Given the description of an element on the screen output the (x, y) to click on. 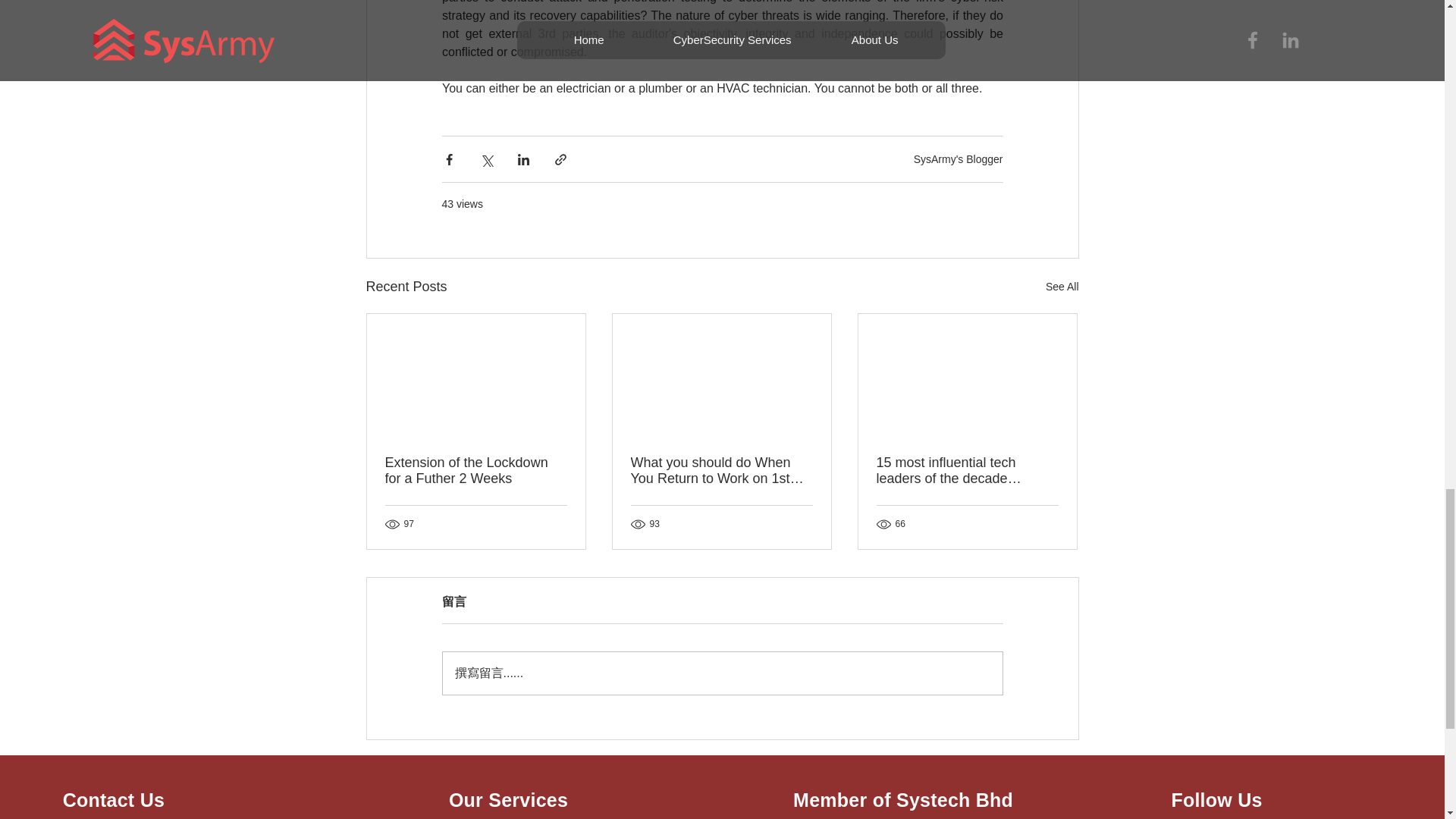
See All (1061, 287)
SysArmy's Blogger (958, 159)
Extension of the Lockdown for a Futher 2 Weeks (476, 470)
What you should do When You Return to Work on 1st April 2020 (721, 470)
